Given the description of an element on the screen output the (x, y) to click on. 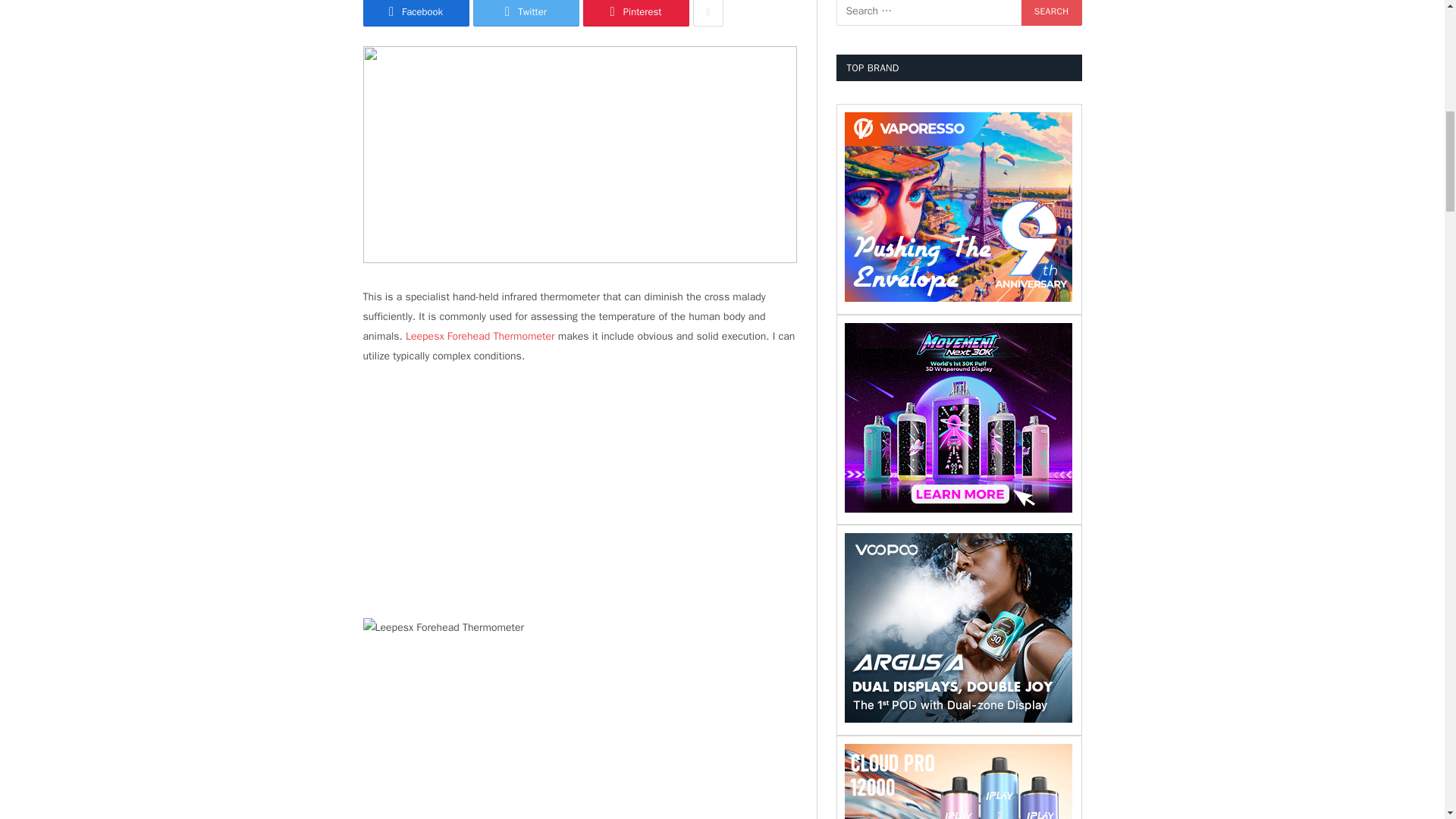
Search (1051, 12)
Share on Twitter (526, 13)
Share on Facebook (415, 13)
Show More Social Sharing (708, 13)
Share on Pinterest (635, 13)
Search (1051, 12)
